Given the description of an element on the screen output the (x, y) to click on. 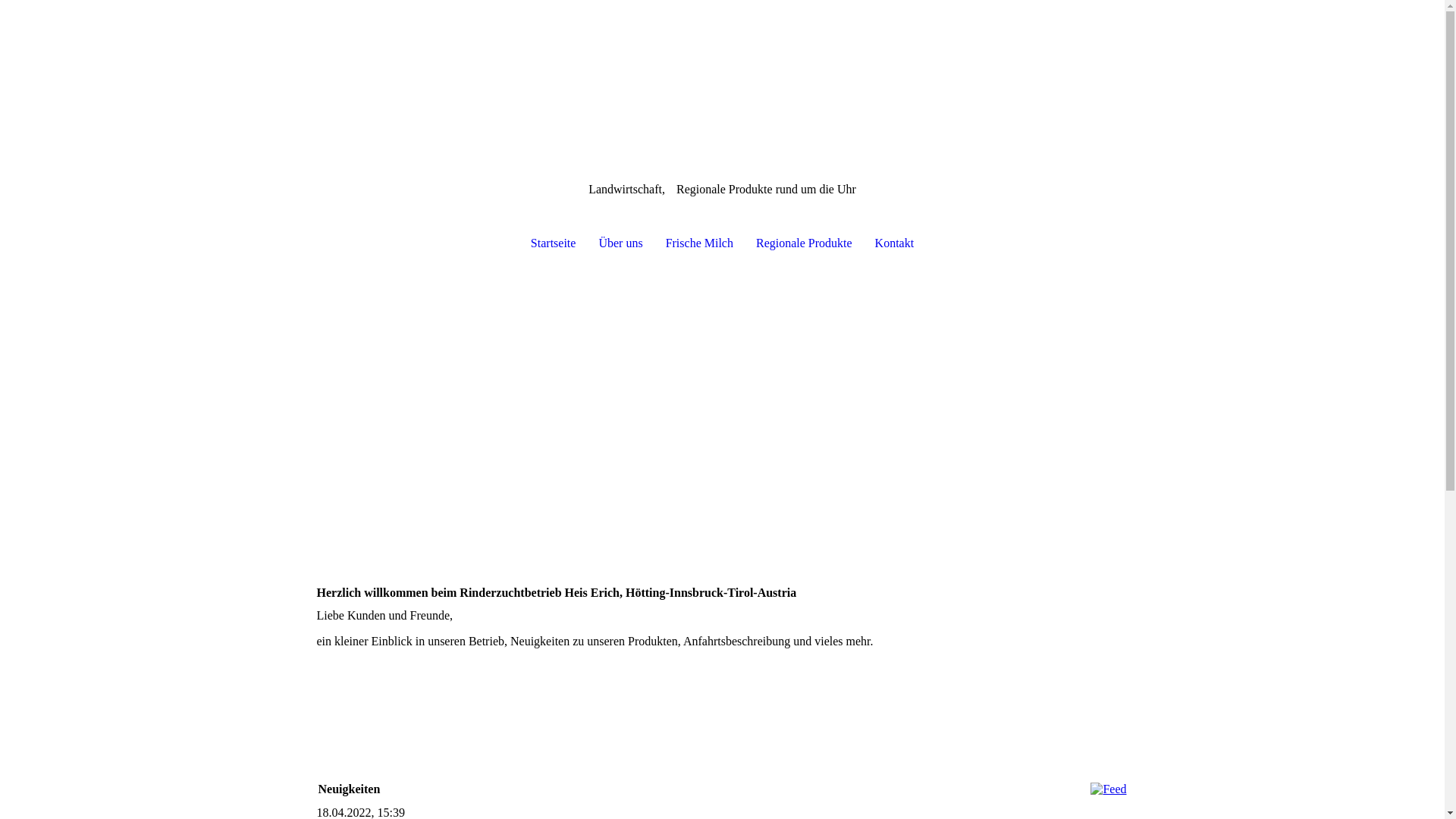
Frische Milch Element type: text (699, 243)
Startseite Element type: text (553, 243)
Regionale Produkte Element type: text (803, 243)
Kontakt Element type: text (894, 243)
